Given the description of an element on the screen output the (x, y) to click on. 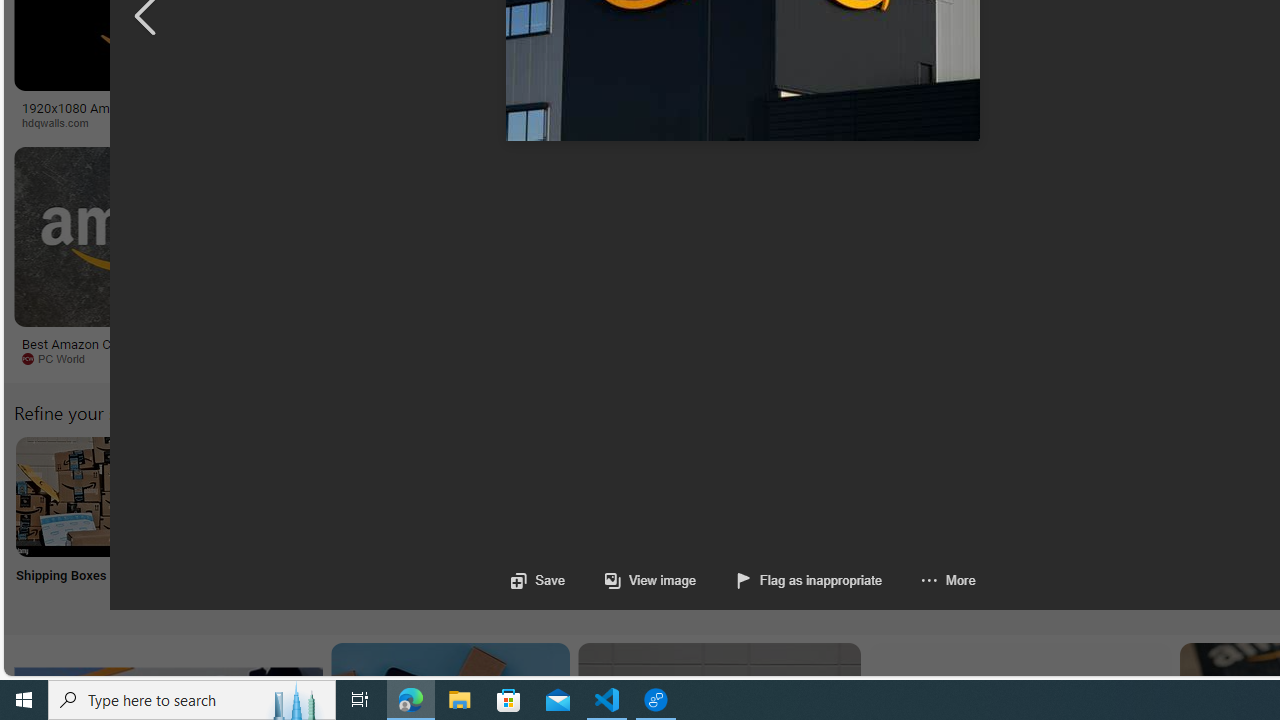
Amazon Wish List (999, 496)
Amazon Log into My Account Log into My Account (472, 521)
Image result for amazon (936, 236)
Image result for amazon (936, 236)
More (948, 580)
PC World (146, 359)
Flag as inappropriate (809, 580)
Log into My Account (472, 521)
Jobs Near Me (604, 521)
Save (537, 580)
Online Store (1131, 521)
